Given the description of an element on the screen output the (x, y) to click on. 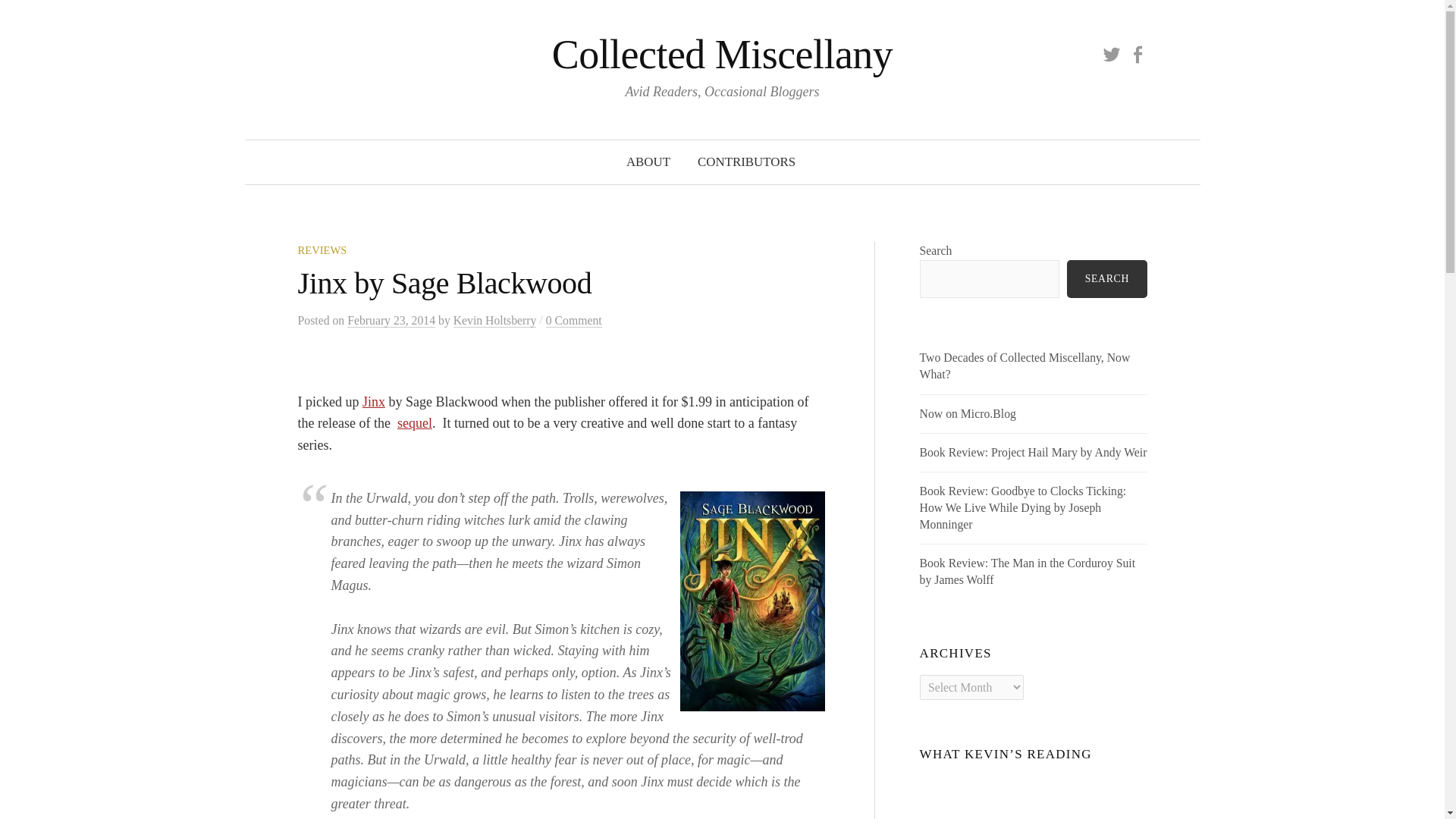
Jinx (373, 401)
ABOUT (648, 162)
February 23, 2014 (391, 320)
0 Comment (574, 320)
REVIEWS (321, 250)
Twitter (1111, 53)
CONTRIBUTORS (746, 162)
Book Review: The Man in the Corduroy Suit by James Wolff (1027, 571)
sequel (414, 422)
